Given the description of an element on the screen output the (x, y) to click on. 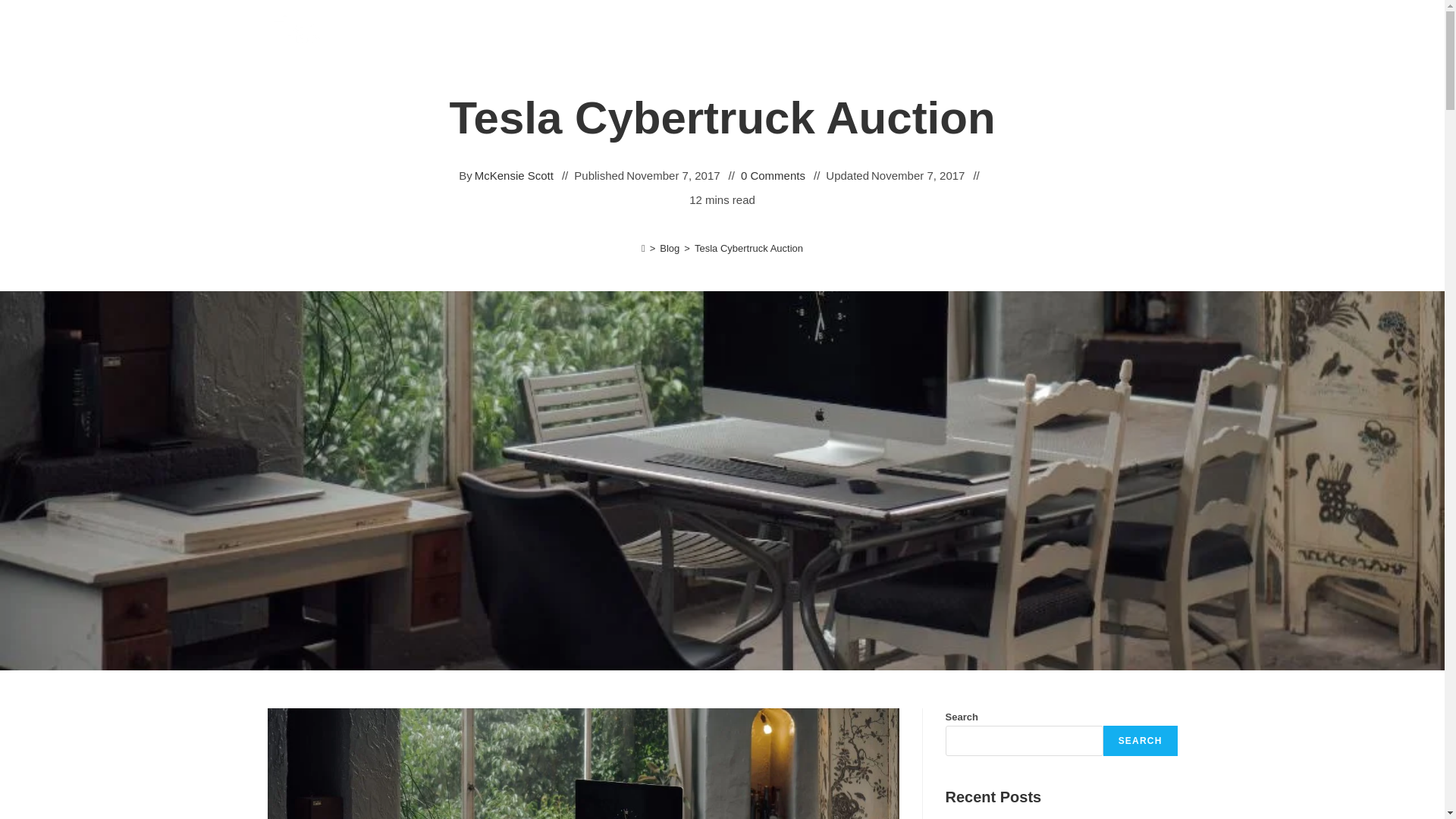
0 Comments (773, 175)
Blog (669, 247)
Tesla Cybertruck Auction (748, 247)
McKensie Scott (513, 175)
